Given the description of an element on the screen output the (x, y) to click on. 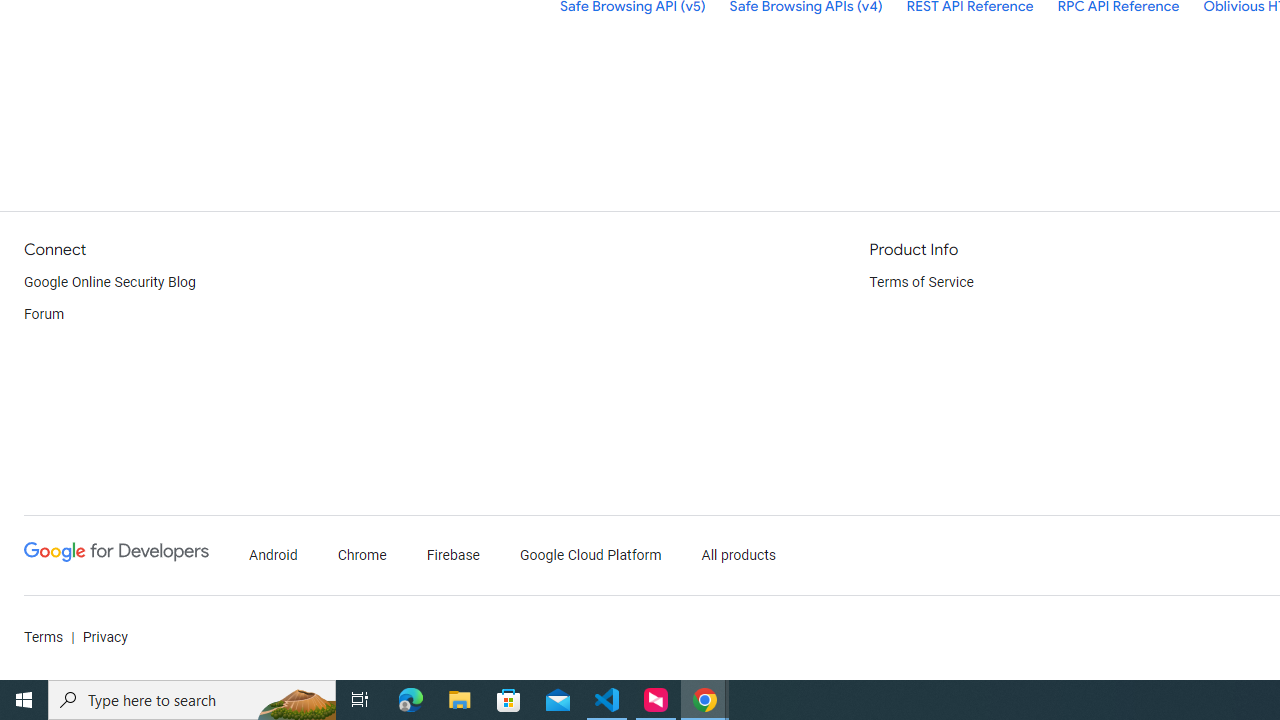
All products (738, 555)
Google Online Security Blog (109, 282)
Google Developers (116, 551)
Privacy (104, 637)
Google Cloud Platform (590, 555)
Terms (44, 637)
Forum (44, 314)
Android (273, 555)
Google Developers (116, 555)
Firebase (453, 555)
Terms of Service (921, 282)
